Given the description of an element on the screen output the (x, y) to click on. 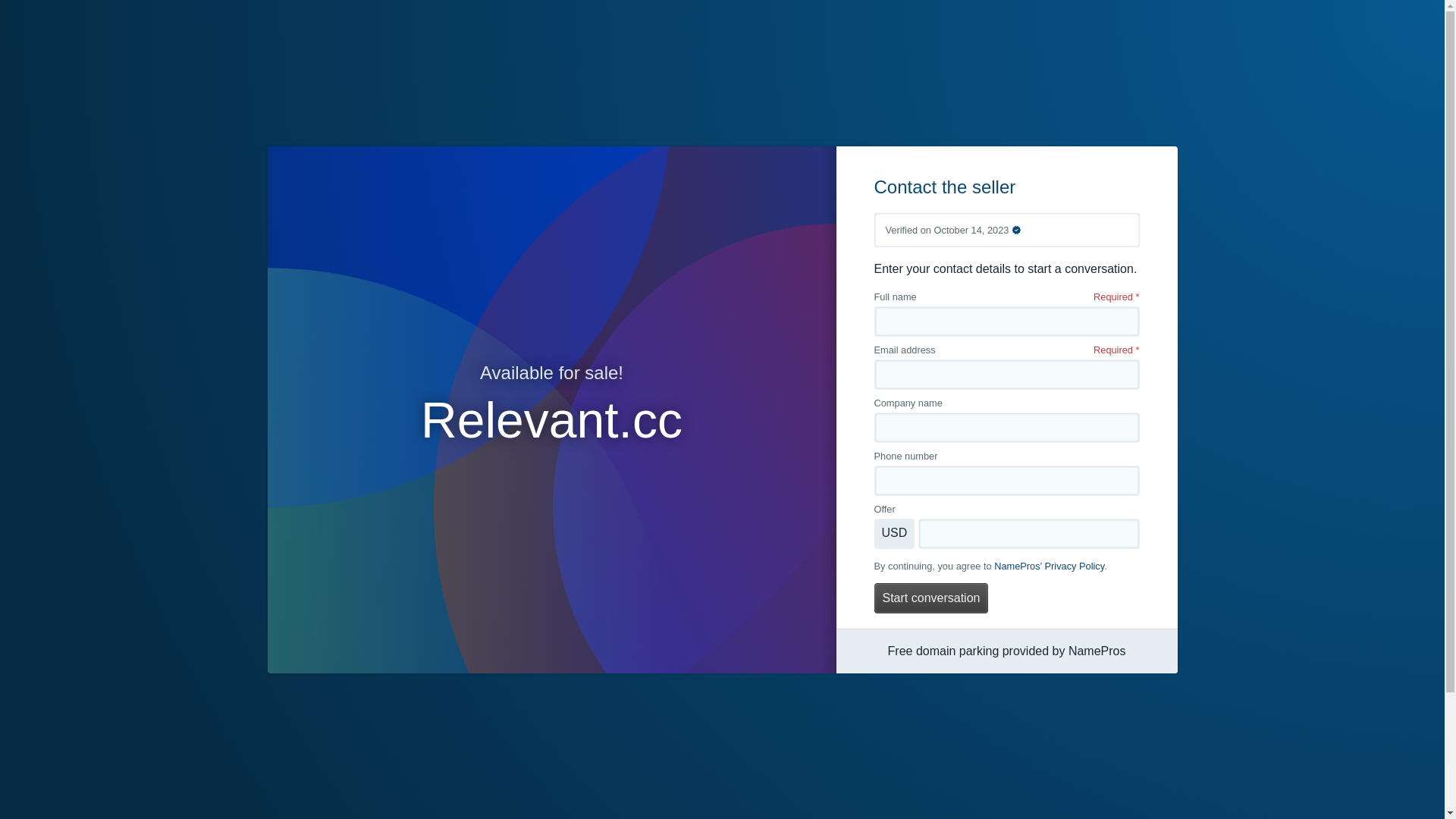
NamePros Element type: text (1097, 650)
Start conversation Element type: text (930, 597)
